Given the description of an element on the screen output the (x, y) to click on. 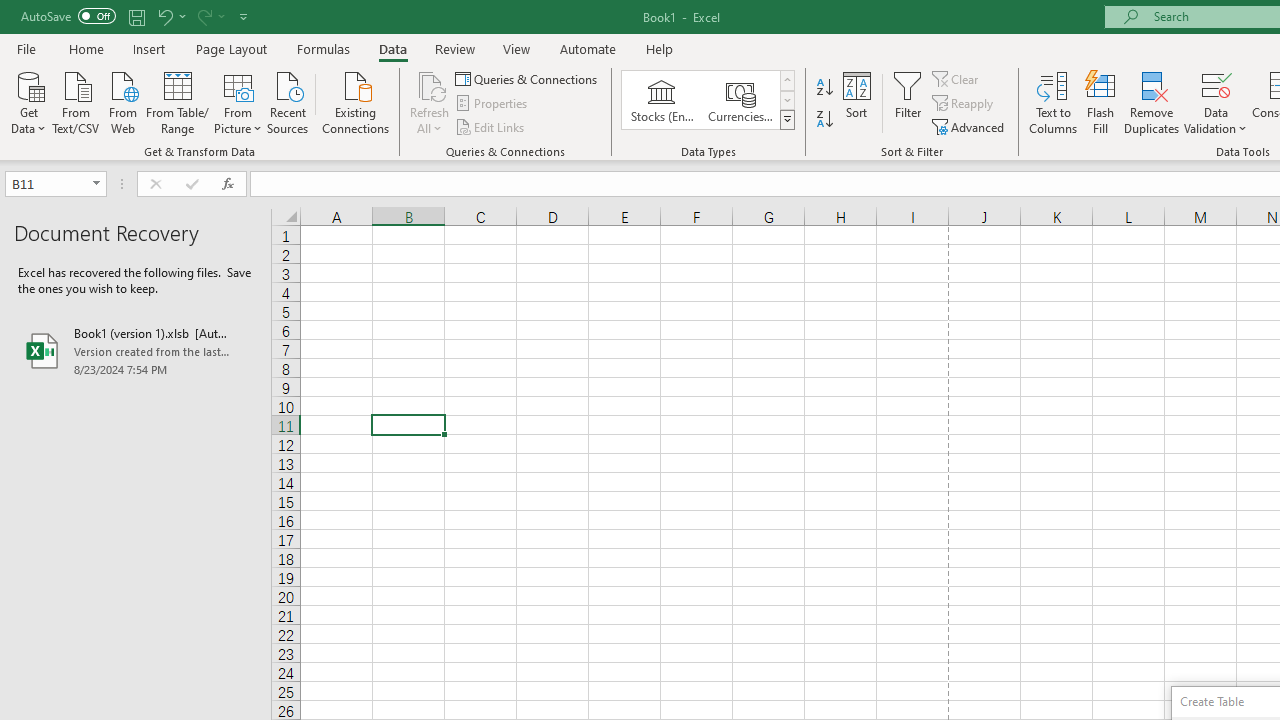
Data Types (786, 120)
Filter (908, 102)
Refresh All (429, 84)
Formulas (323, 48)
Review (454, 48)
Open (96, 183)
Class: NetUIImage (787, 119)
Existing Connections (355, 101)
Queries & Connections (527, 78)
Customize Quick Access Toolbar (244, 15)
Advanced... (970, 126)
